Given the description of an element on the screen output the (x, y) to click on. 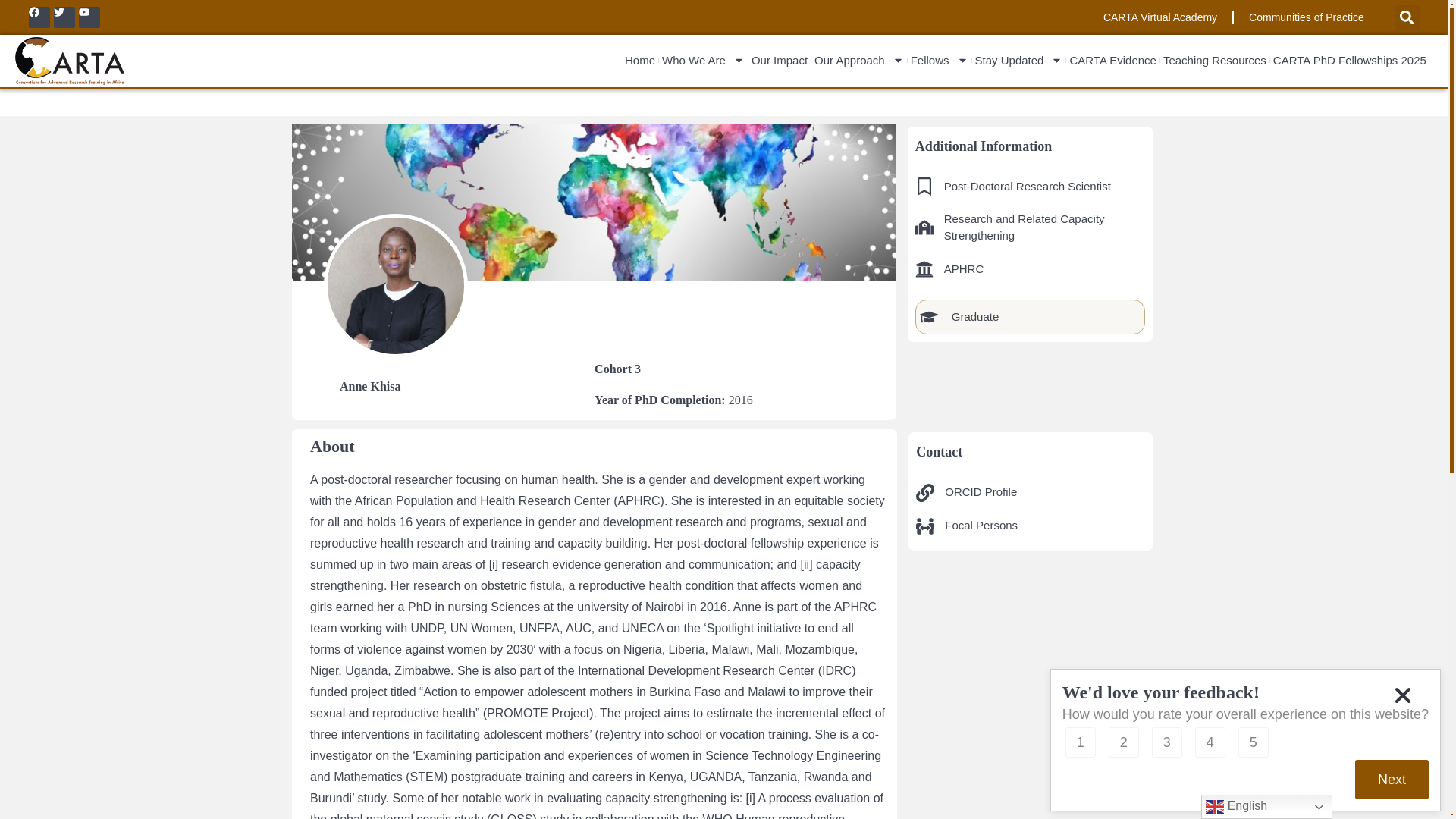
1 (1080, 742)
2 (1123, 742)
4 (1210, 742)
CARTA Virtual Academy (1159, 17)
Our Impact (779, 60)
CARTA Evidence (1111, 60)
CARTA PhD Fellowships 2025 (1349, 60)
Fellows (939, 60)
Teaching Resources (1214, 60)
3 (1166, 742)
Stay Updated (1018, 60)
Our Approach (858, 60)
Communities of Practice (1305, 17)
5 (1253, 742)
Who We Are (703, 60)
